Given the description of an element on the screen output the (x, y) to click on. 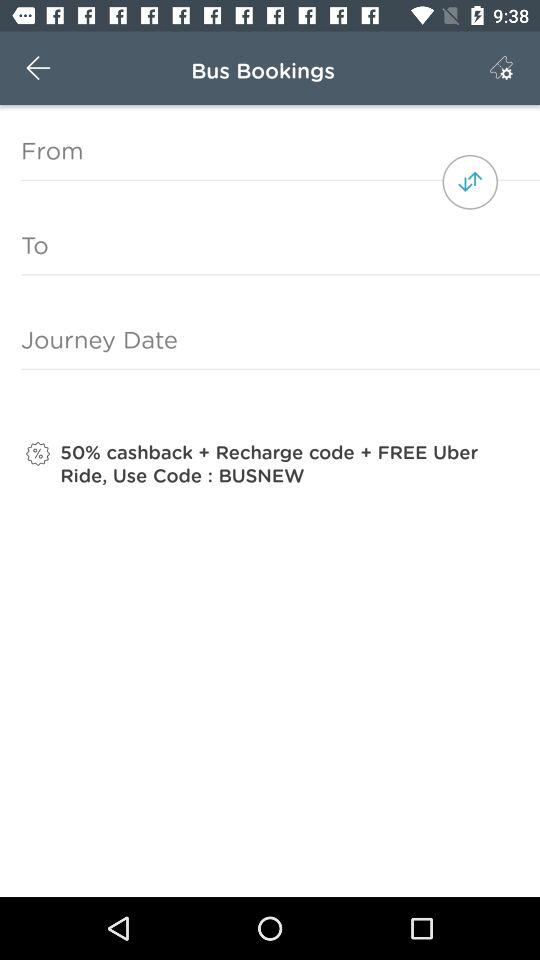
turn on the icon next to the bus bookings item (38, 68)
